Given the description of an element on the screen output the (x, y) to click on. 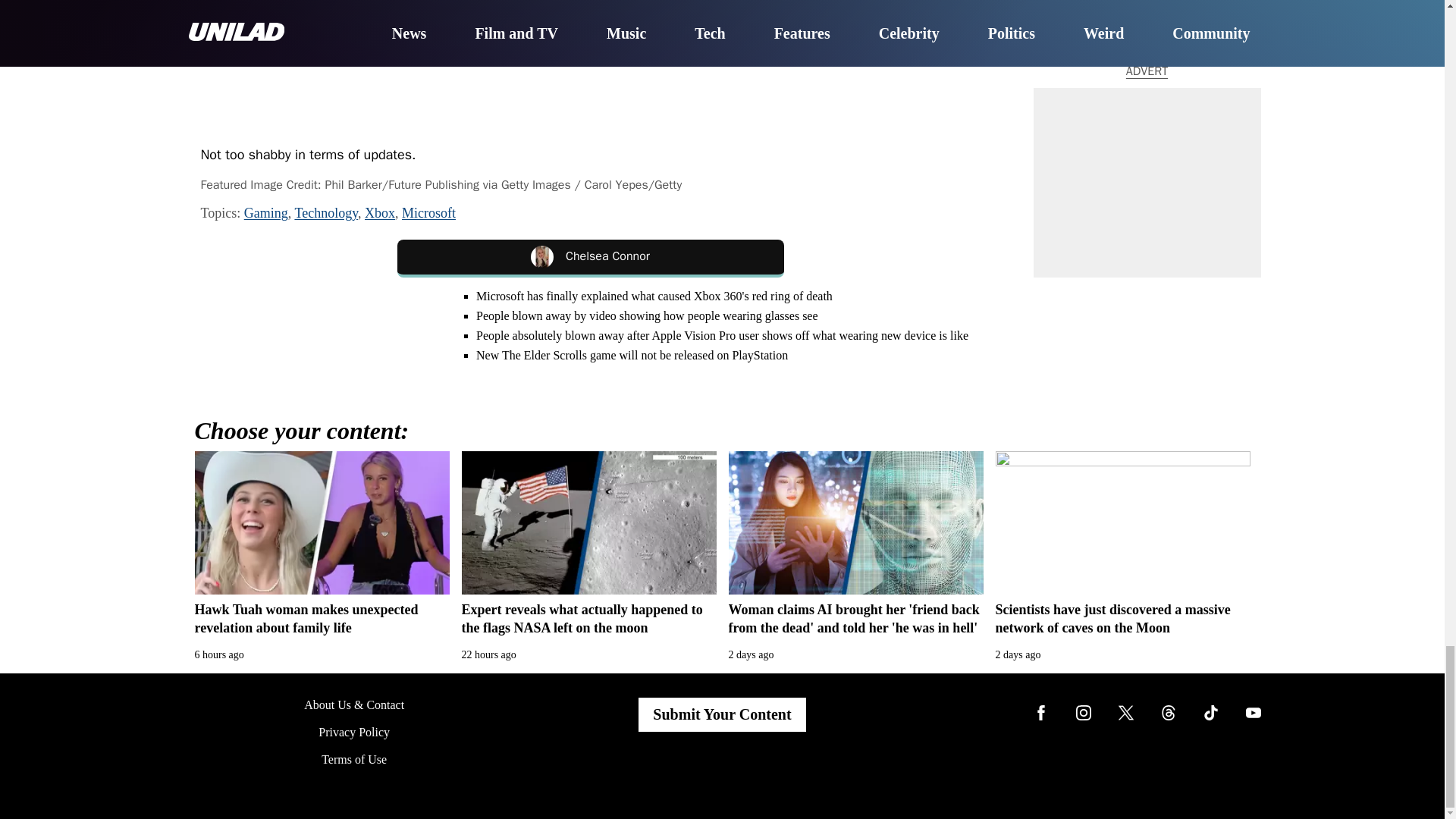
Gaming (266, 212)
Microsoft (428, 212)
Technology (326, 212)
Xbox (379, 212)
